Given the description of an element on the screen output the (x, y) to click on. 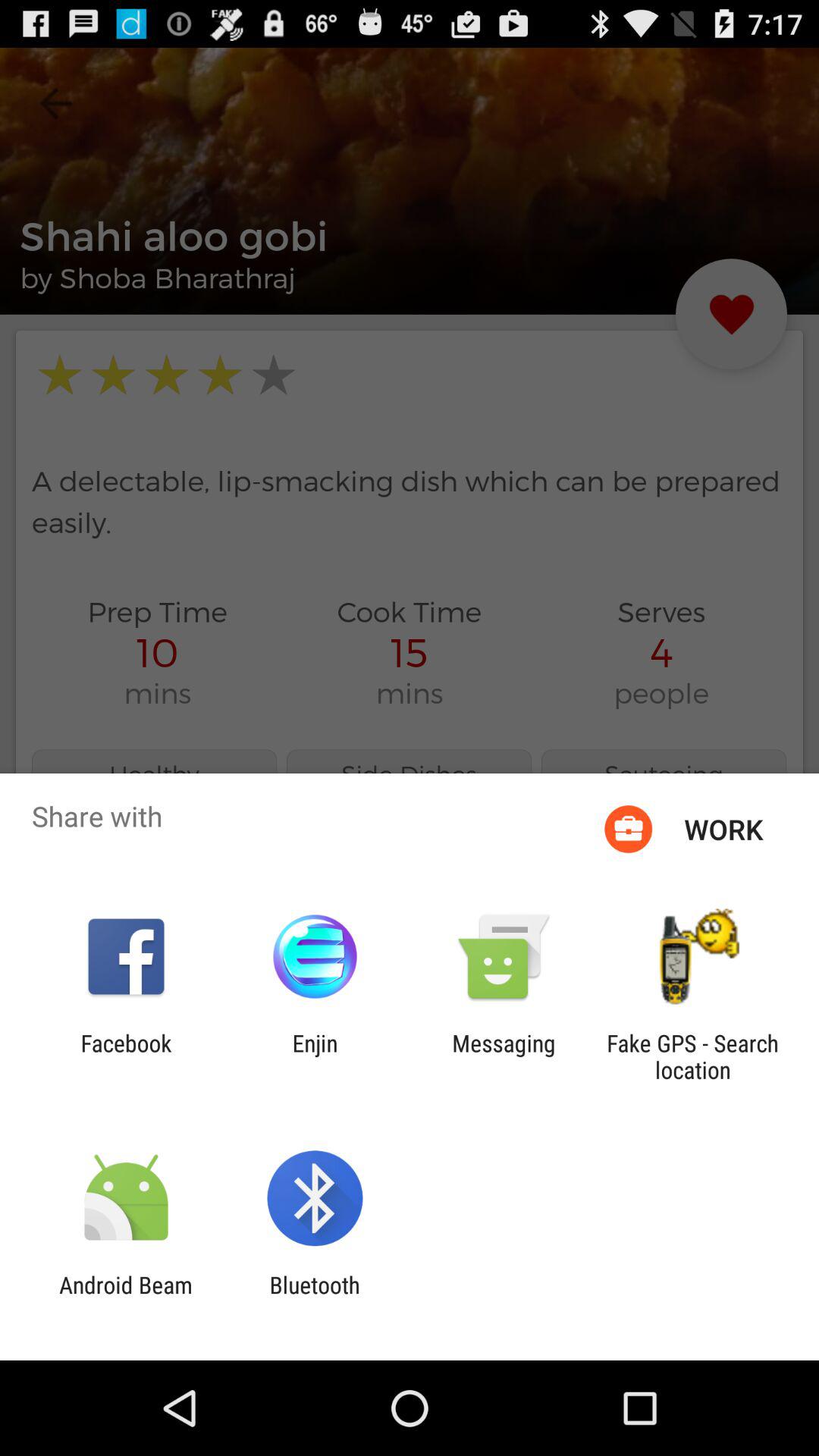
turn on the enjin icon (314, 1056)
